Given the description of an element on the screen output the (x, y) to click on. 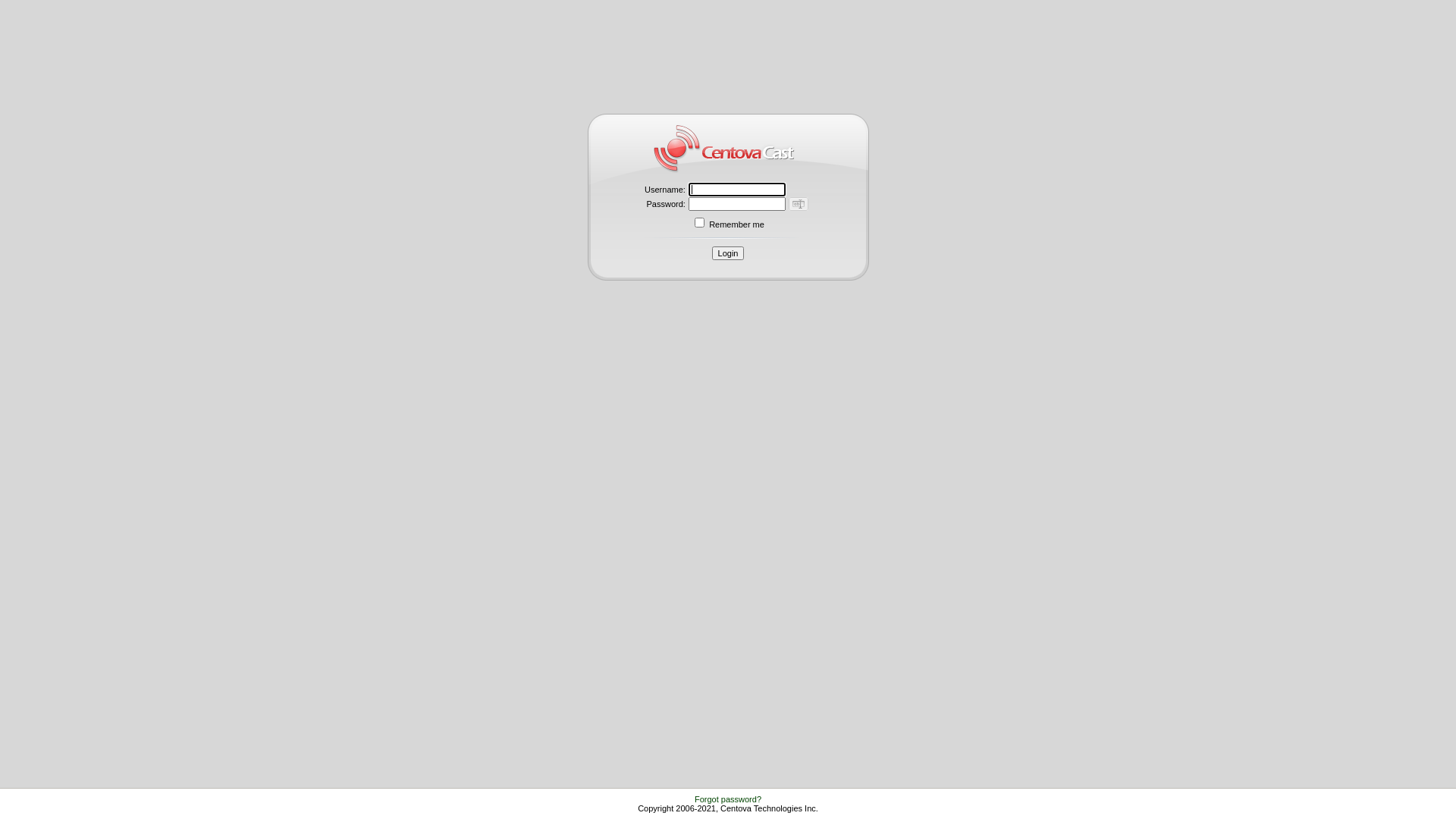
Forgot password? Element type: text (727, 798)
Login Element type: text (728, 253)
